Given the description of an element on the screen output the (x, y) to click on. 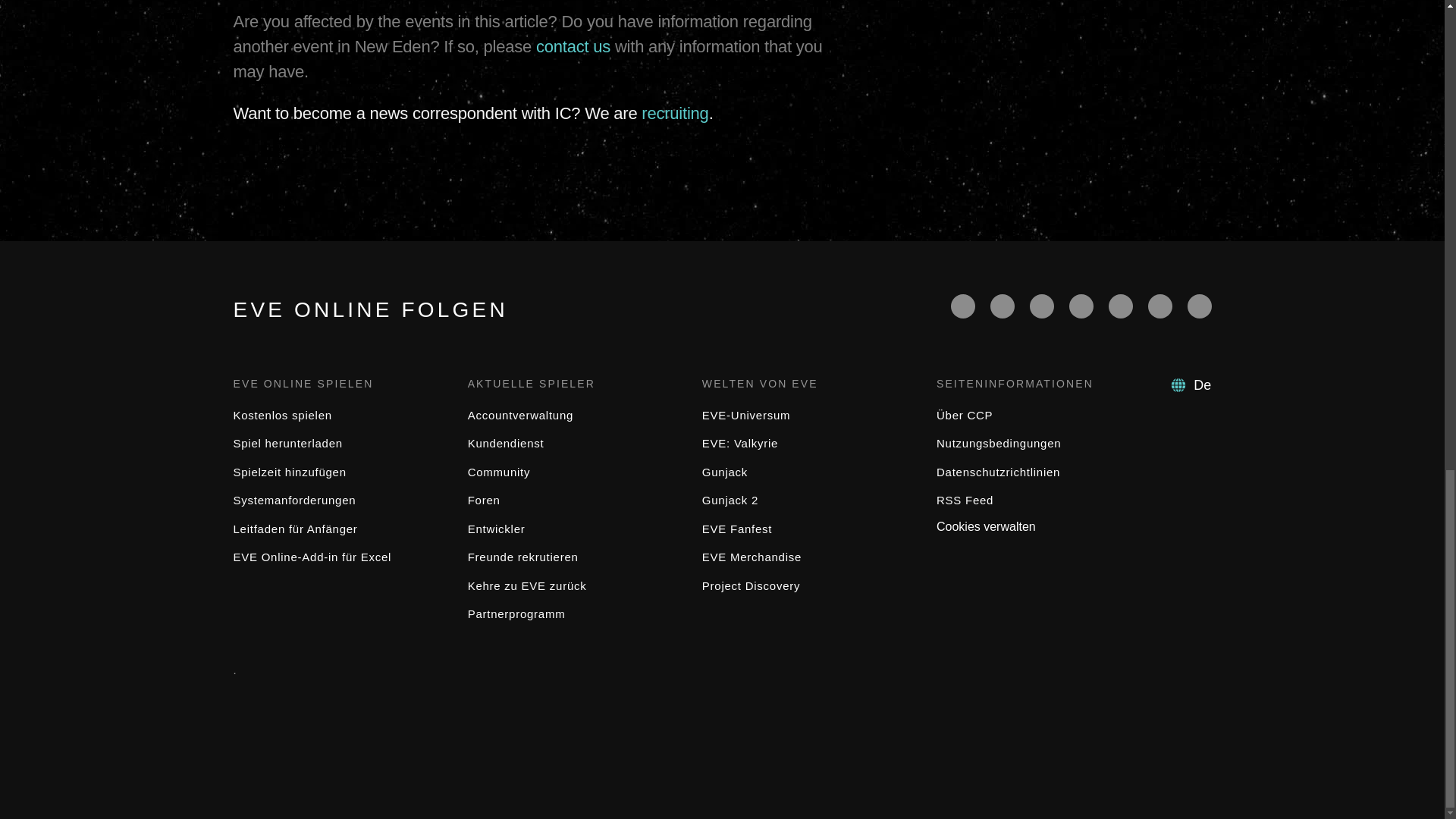
Facebook (962, 306)
Kostenlos spielen (281, 414)
Spiel herunterladen (287, 442)
VK (1199, 306)
Community (499, 472)
YouTube (1041, 306)
Instagram (1160, 306)
Kundendienst (505, 442)
Accountverwaltung (520, 414)
Systemanforderungen (294, 499)
Twitter (1002, 306)
Discord (1120, 306)
Twitch (1080, 306)
